Given the description of an element on the screen output the (x, y) to click on. 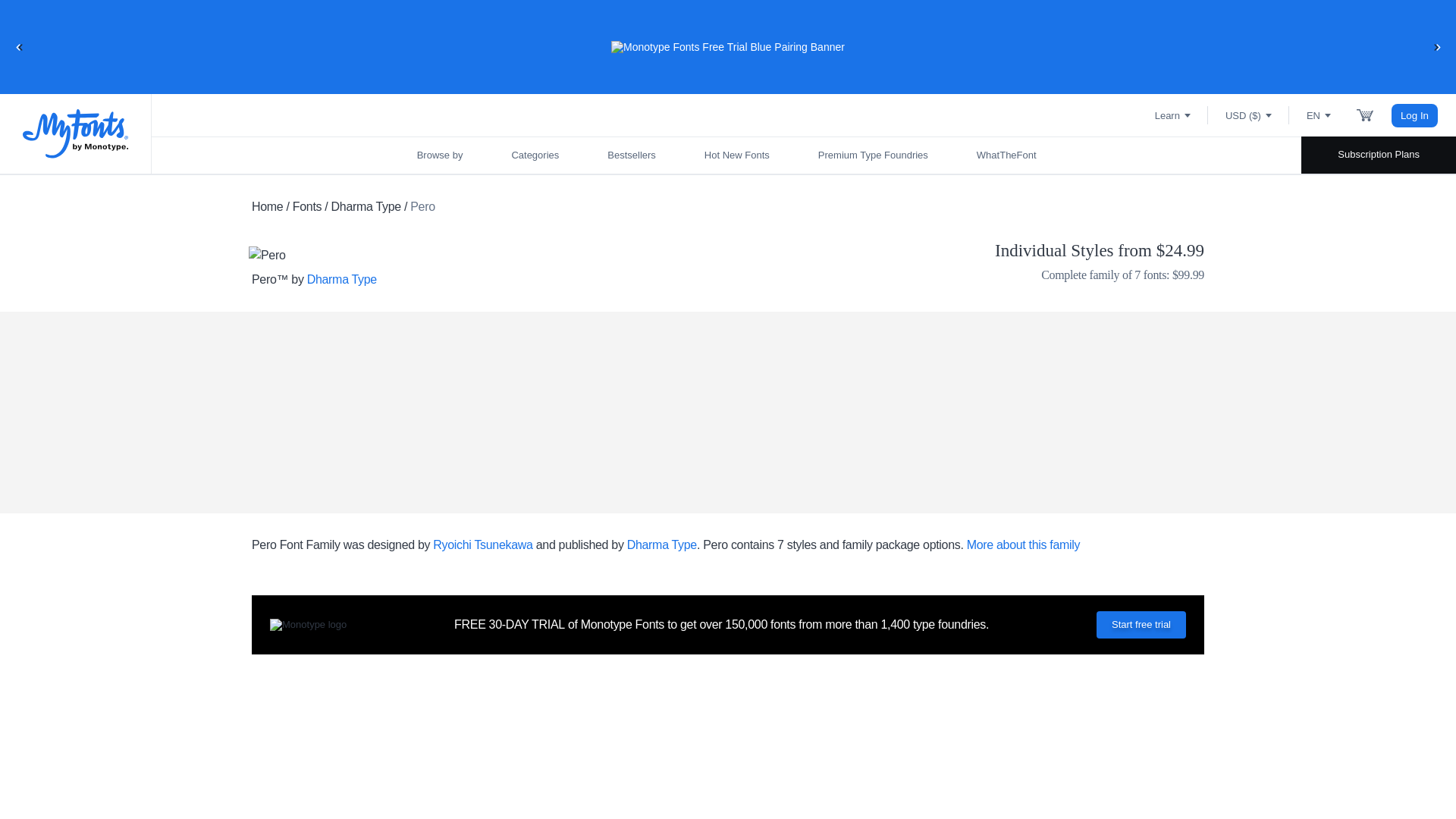
Skip to content (72, 27)
Log In (1414, 114)
MyFonts (75, 133)
